Given the description of an element on the screen output the (x, y) to click on. 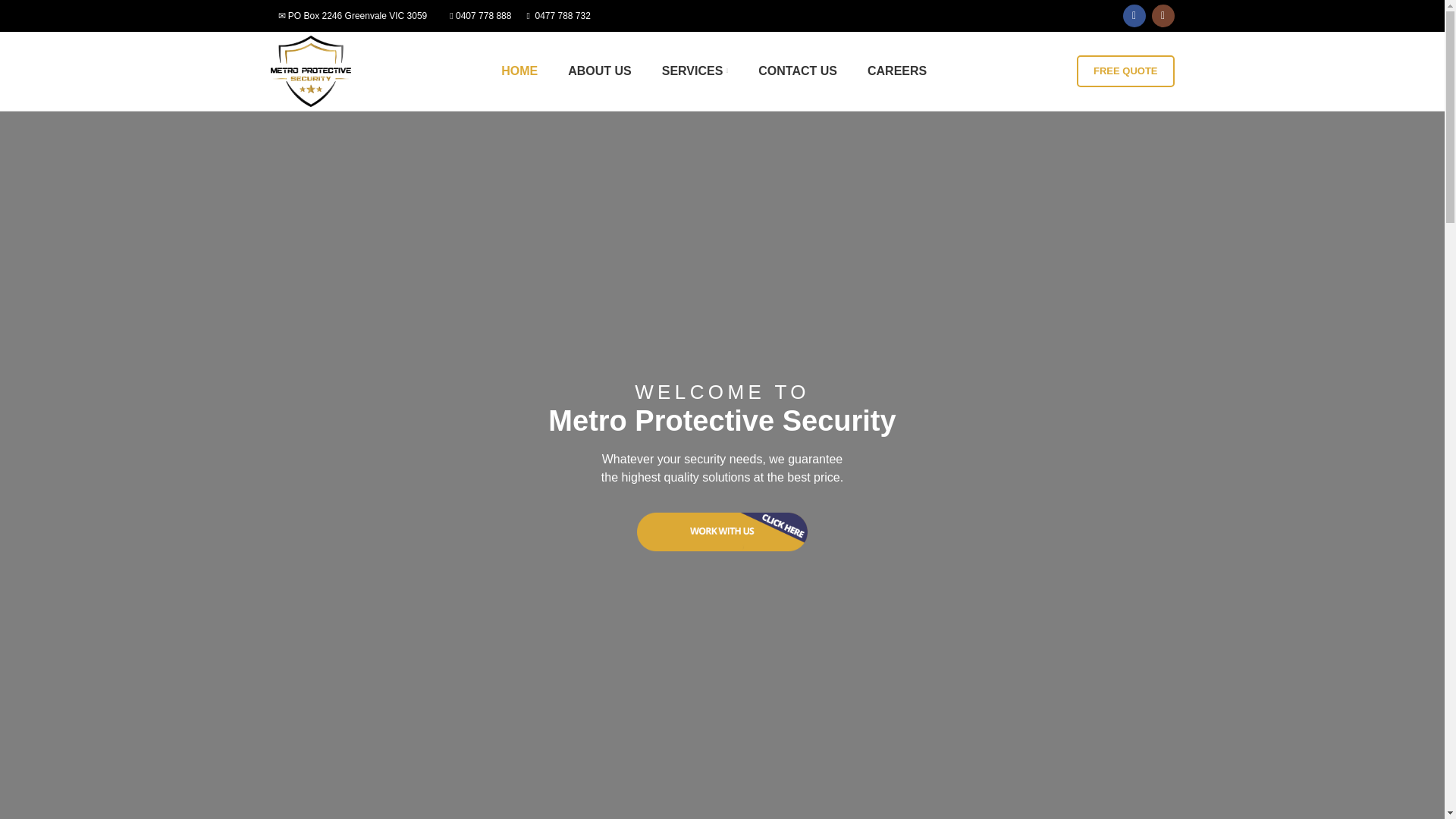
FREE QUOTE (1125, 70)
HOME (519, 71)
CAREERS (896, 71)
ABOUT US (599, 71)
SERVICES (695, 71)
CONTACT US (796, 71)
